Given the description of an element on the screen output the (x, y) to click on. 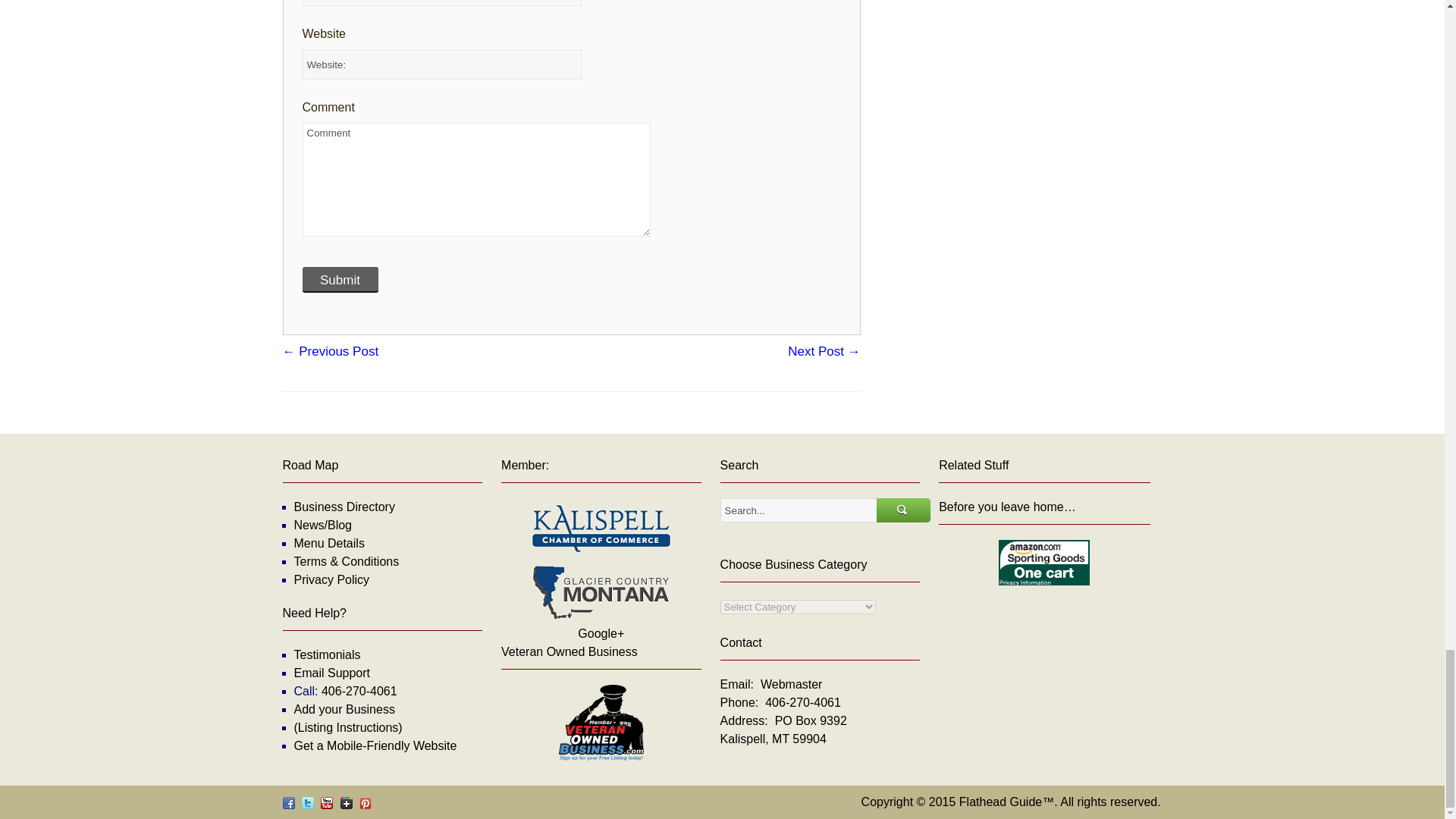
Search... (903, 509)
Find local businesses (344, 506)
Submit (339, 279)
Search... (799, 509)
